Given the description of an element on the screen output the (x, y) to click on. 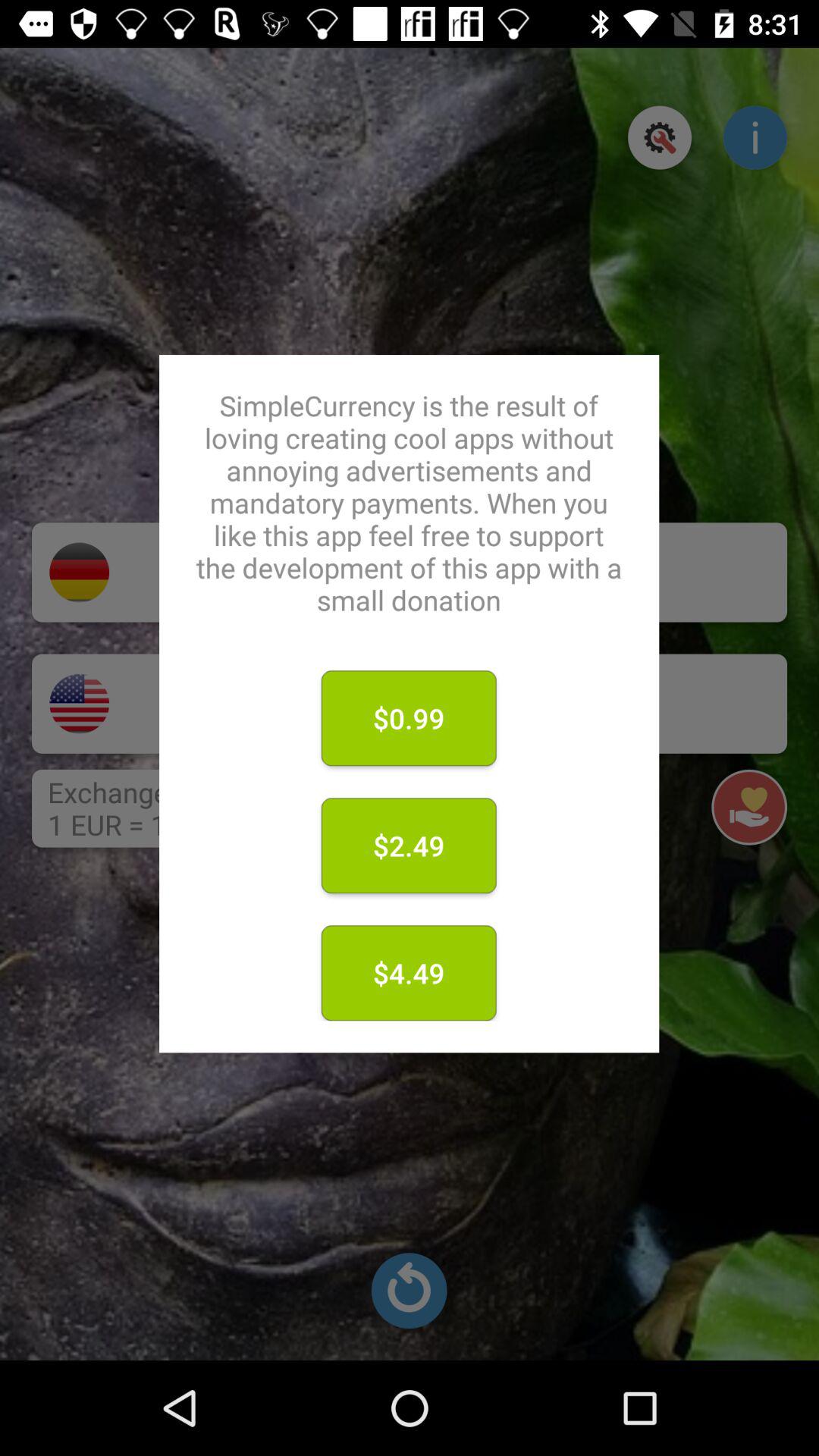
click button (659, 137)
